Given the description of an element on the screen output the (x, y) to click on. 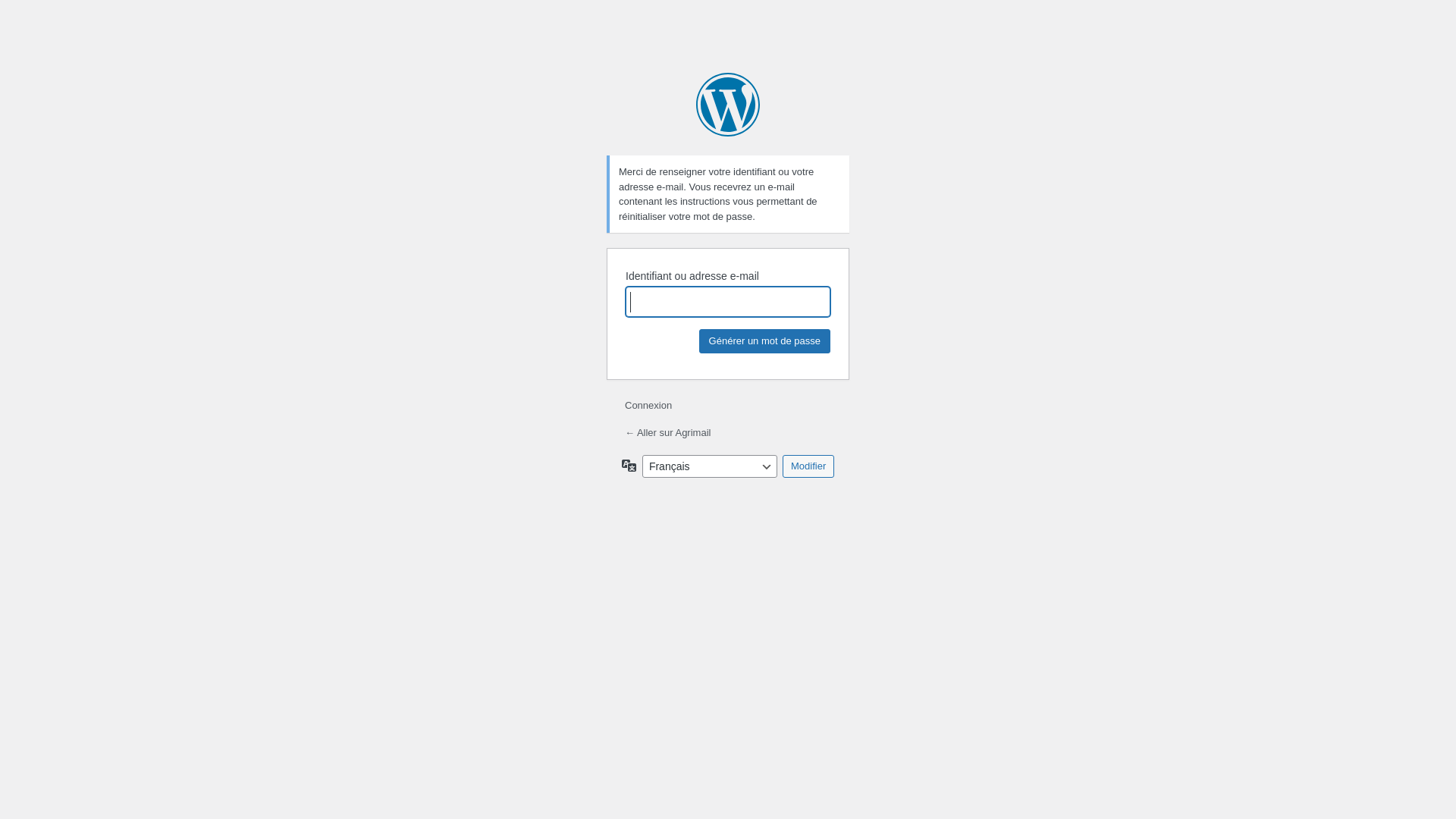
Modifier Element type: text (808, 466)
Connexion Element type: text (647, 405)
